Given the description of an element on the screen output the (x, y) to click on. 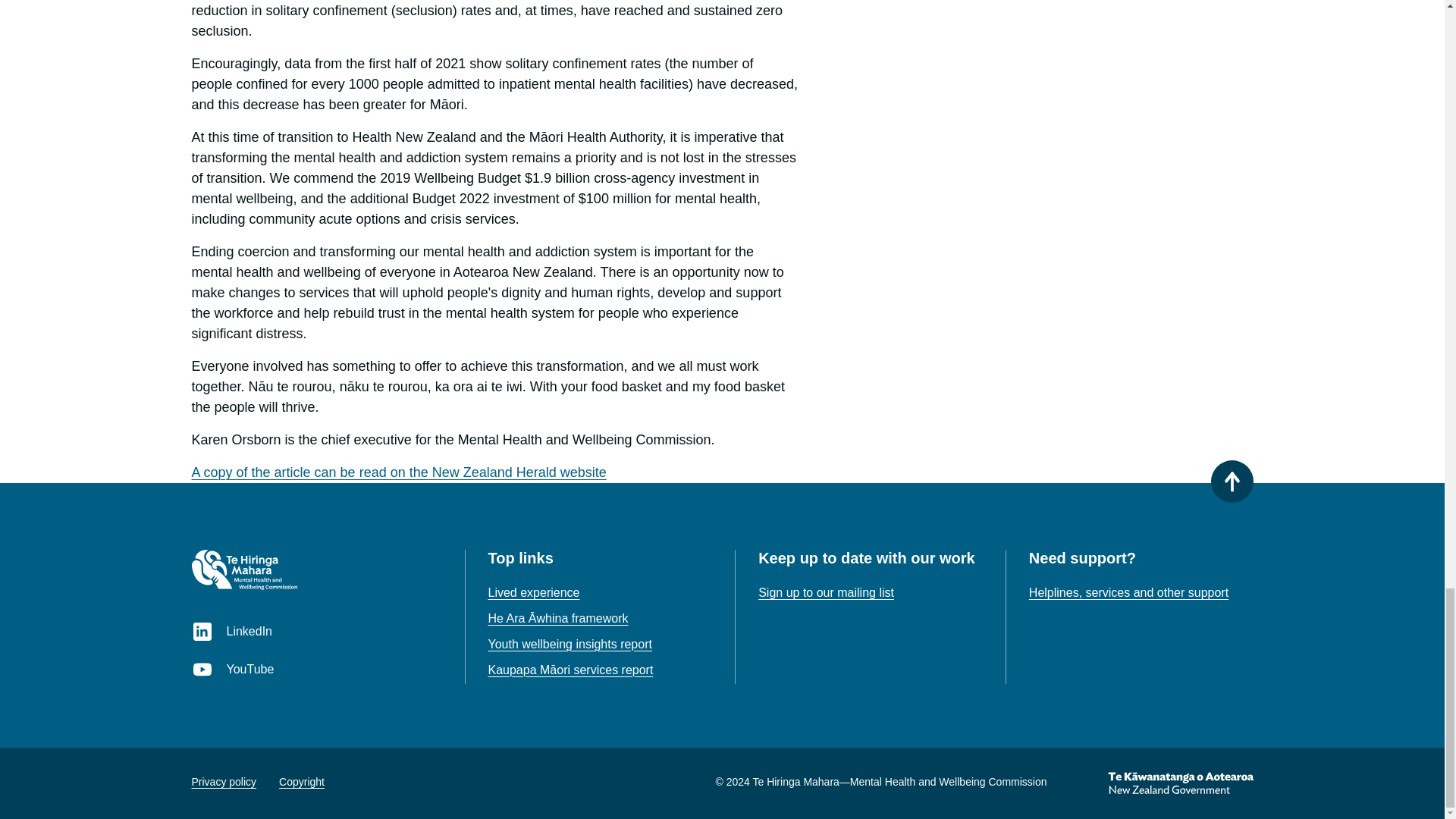
Home (243, 569)
